Given the description of an element on the screen output the (x, y) to click on. 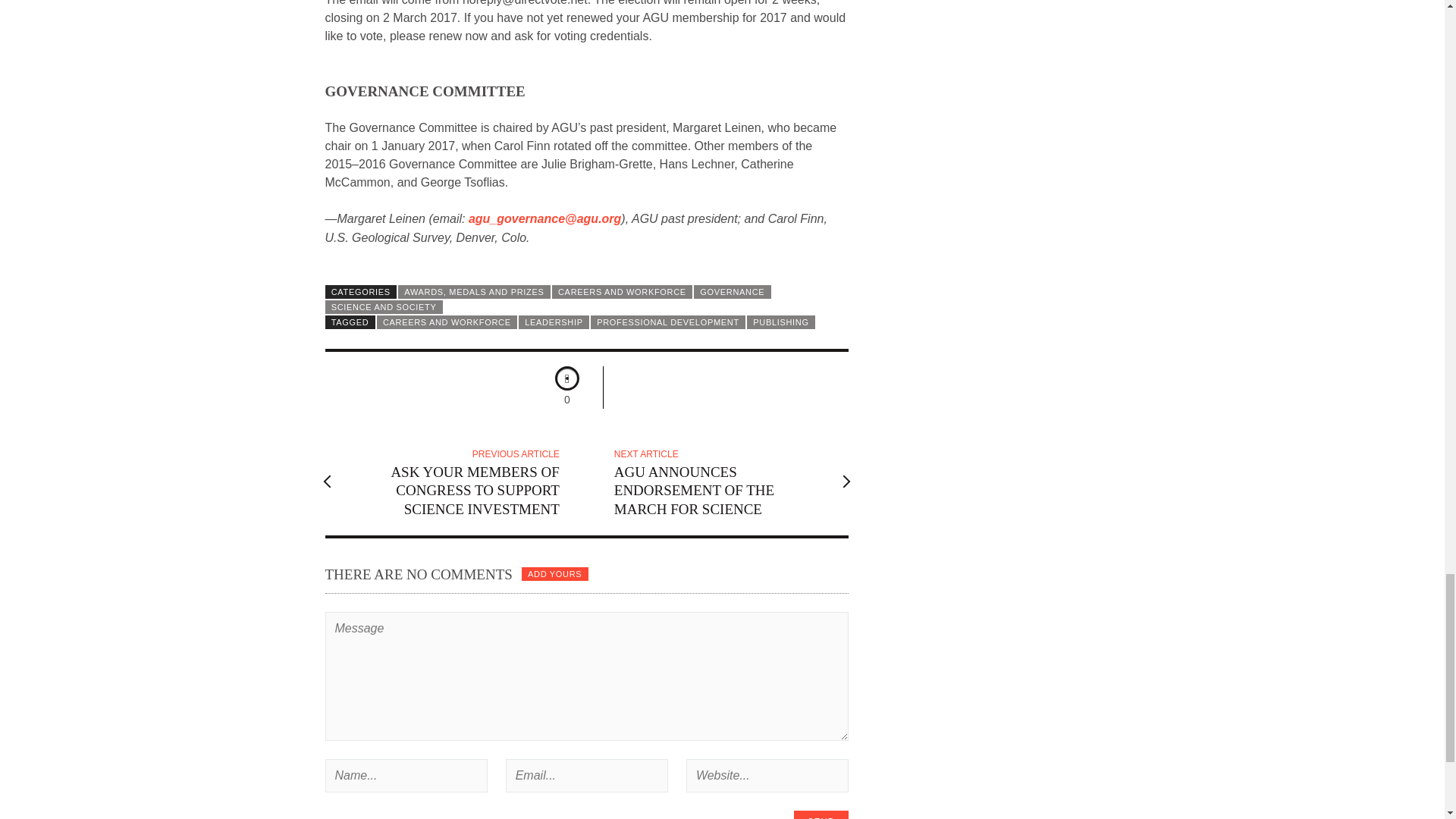
CAREERS AND WORKFORCE (446, 322)
View all posts in Governance (732, 291)
CAREERS AND WORKFORCE (622, 291)
Send (820, 814)
AWARDS, MEDALS AND PRIZES (473, 291)
View all posts in Awards, medals and prizes (473, 291)
View all posts tagged professional development (668, 322)
View all posts tagged careers and workforce (446, 322)
View all posts tagged publishing (780, 322)
